Given the description of an element on the screen output the (x, y) to click on. 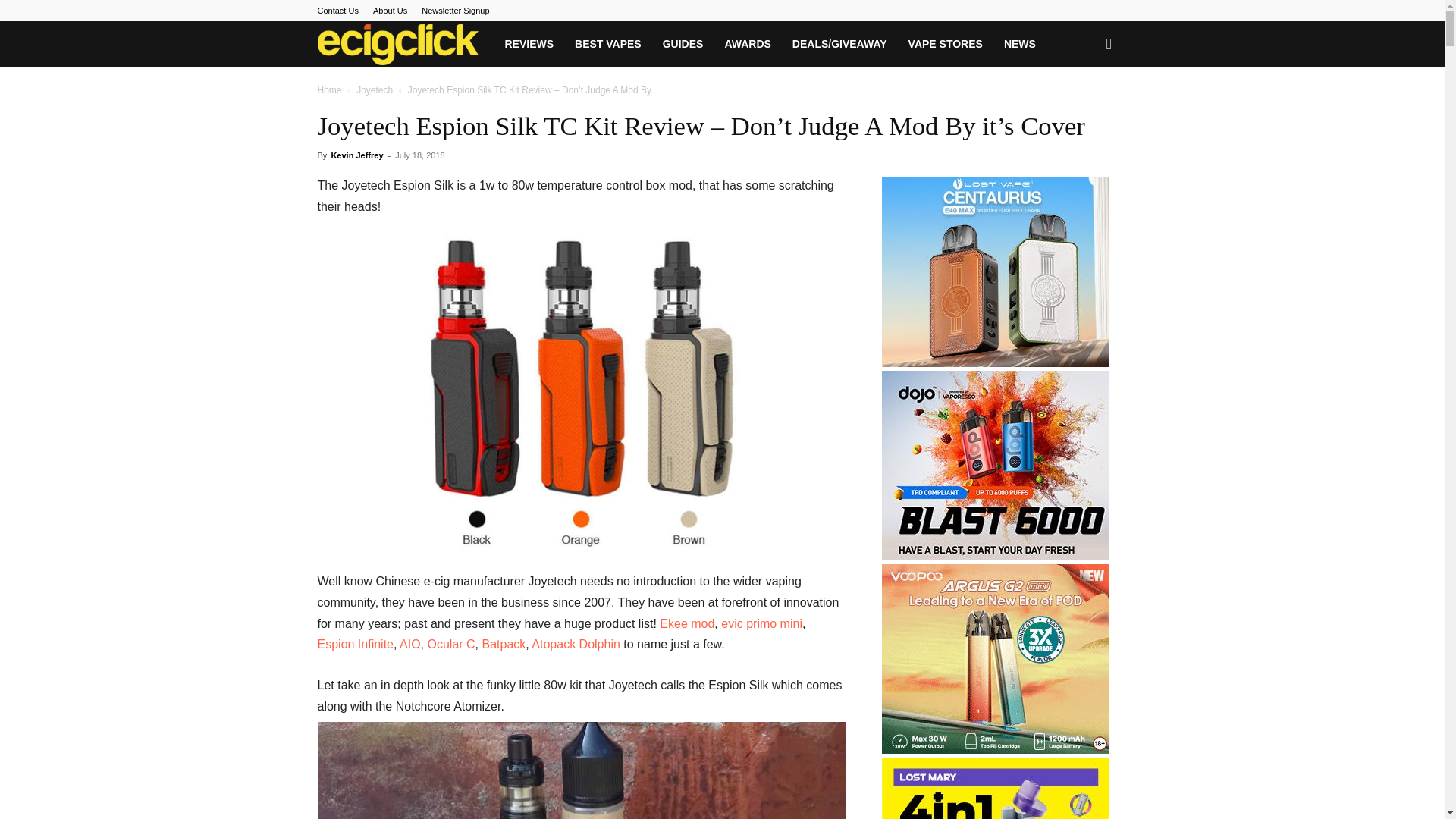
View all posts in Joyetech (374, 90)
Ecigclick (398, 44)
